Given the description of an element on the screen output the (x, y) to click on. 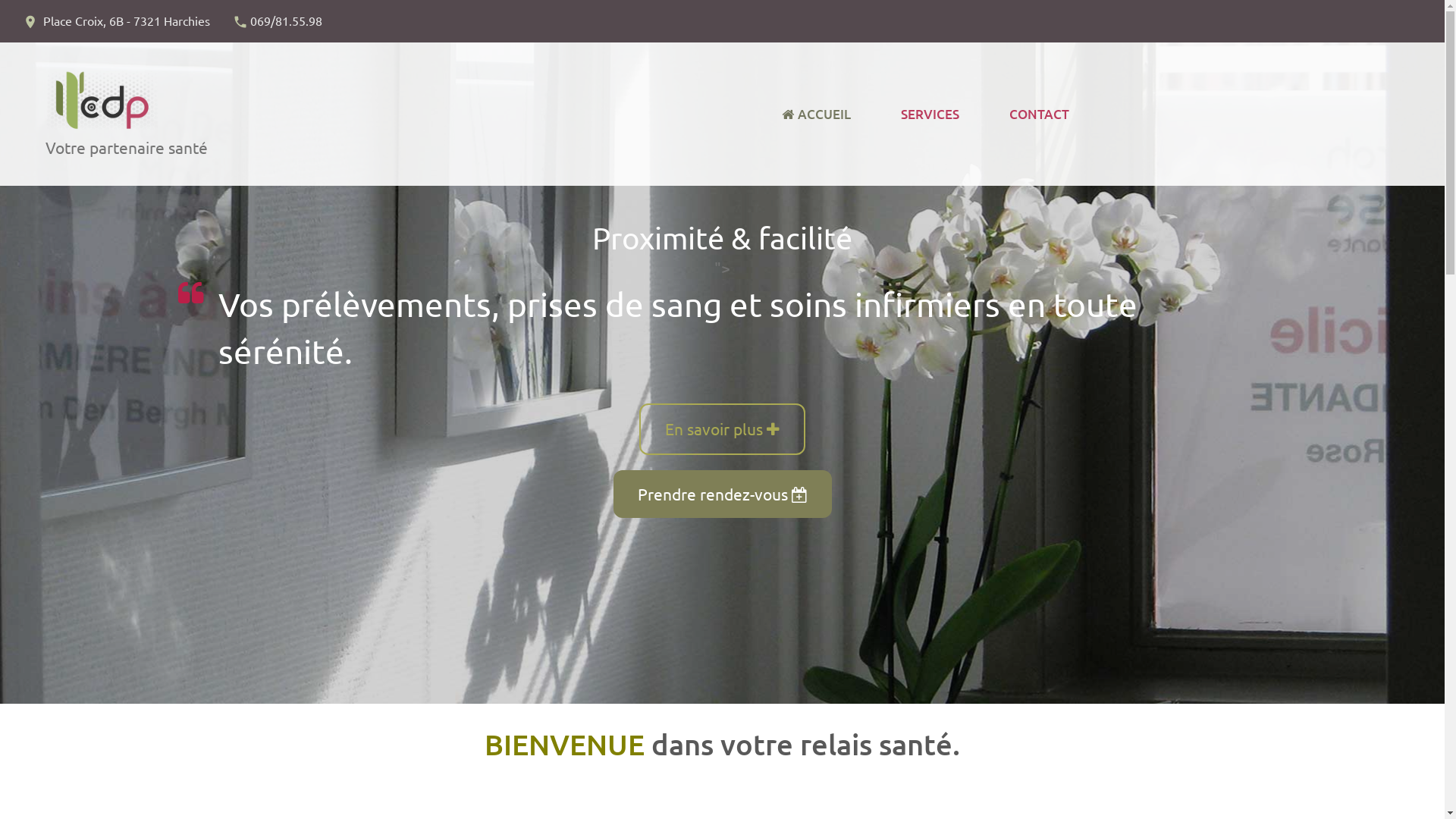
En savoir plus  Element type: text (722, 429)
SERVICES Element type: text (929, 114)
Prendre rendez-vous  Element type: text (721, 494)
CONTACT Element type: text (1038, 114)
ACCUEIL Element type: text (816, 114)
